Given the description of an element on the screen output the (x, y) to click on. 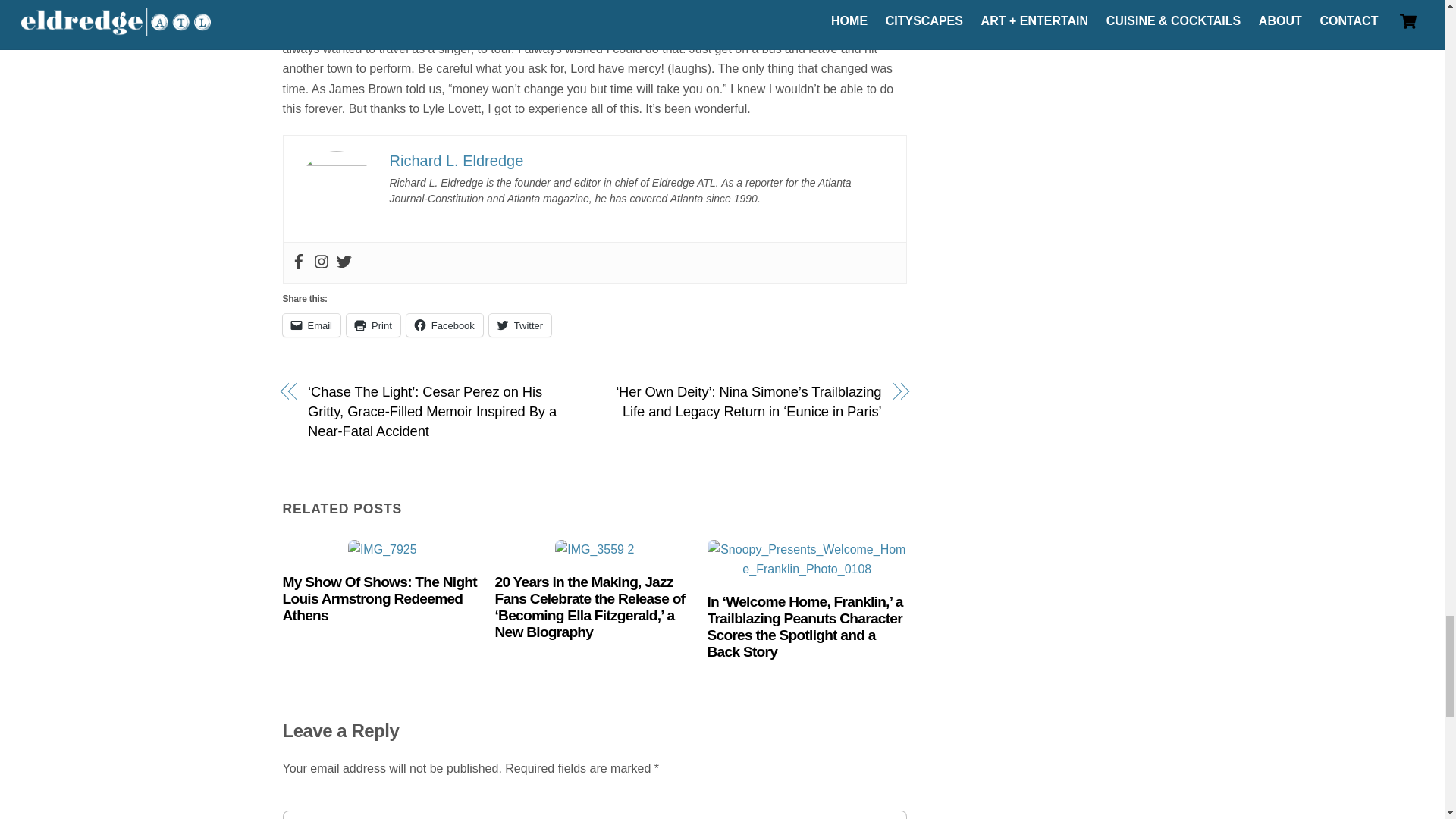
Click to email a link to a friend (311, 324)
Richard L. Eldredge (457, 160)
Facebook (444, 324)
Twitter (520, 324)
Print (373, 324)
Click to share on Facebook (444, 324)
Click to print (373, 324)
Click to share on Twitter (520, 324)
Email (311, 324)
